Given the description of an element on the screen output the (x, y) to click on. 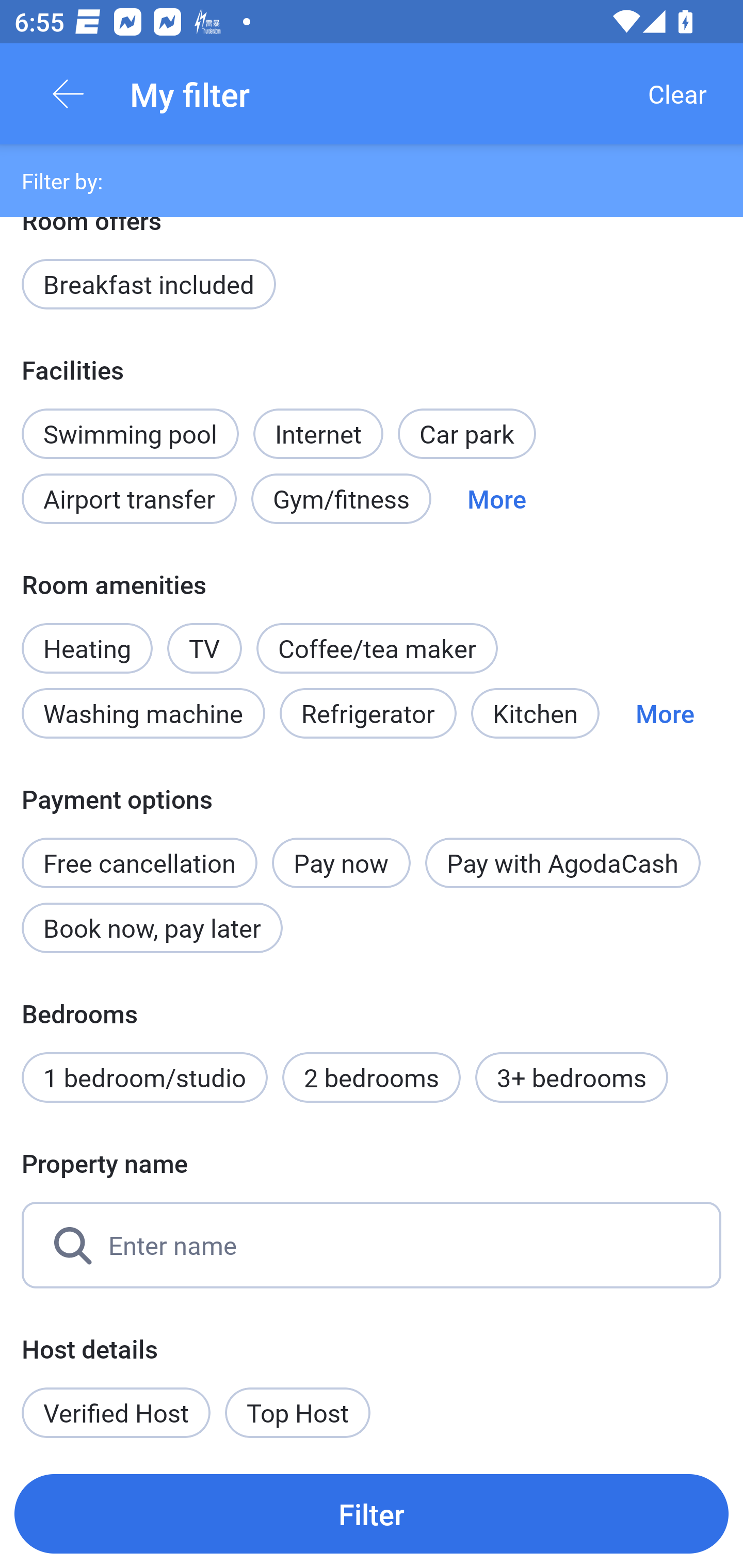
Clear (676, 93)
Breakfast included (148, 284)
Swimming pool (130, 433)
Internet (318, 422)
Car park (466, 433)
Airport transfer (129, 498)
Gym/fitness (341, 498)
More (496, 498)
Heating (87, 637)
TV (204, 637)
Coffee/tea maker (376, 648)
Washing machine (143, 713)
Refrigerator (367, 713)
Kitchen (535, 713)
More (664, 713)
Free cancellation (139, 852)
Pay now (340, 863)
Pay with AgodaCash (562, 863)
Book now, pay later (152, 927)
1 bedroom/studio (144, 1077)
2 bedrooms (371, 1077)
3+ bedrooms (571, 1077)
Enter name (371, 1244)
Verified Host (115, 1412)
Top Host (297, 1412)
Filter (371, 1513)
